Given the description of an element on the screen output the (x, y) to click on. 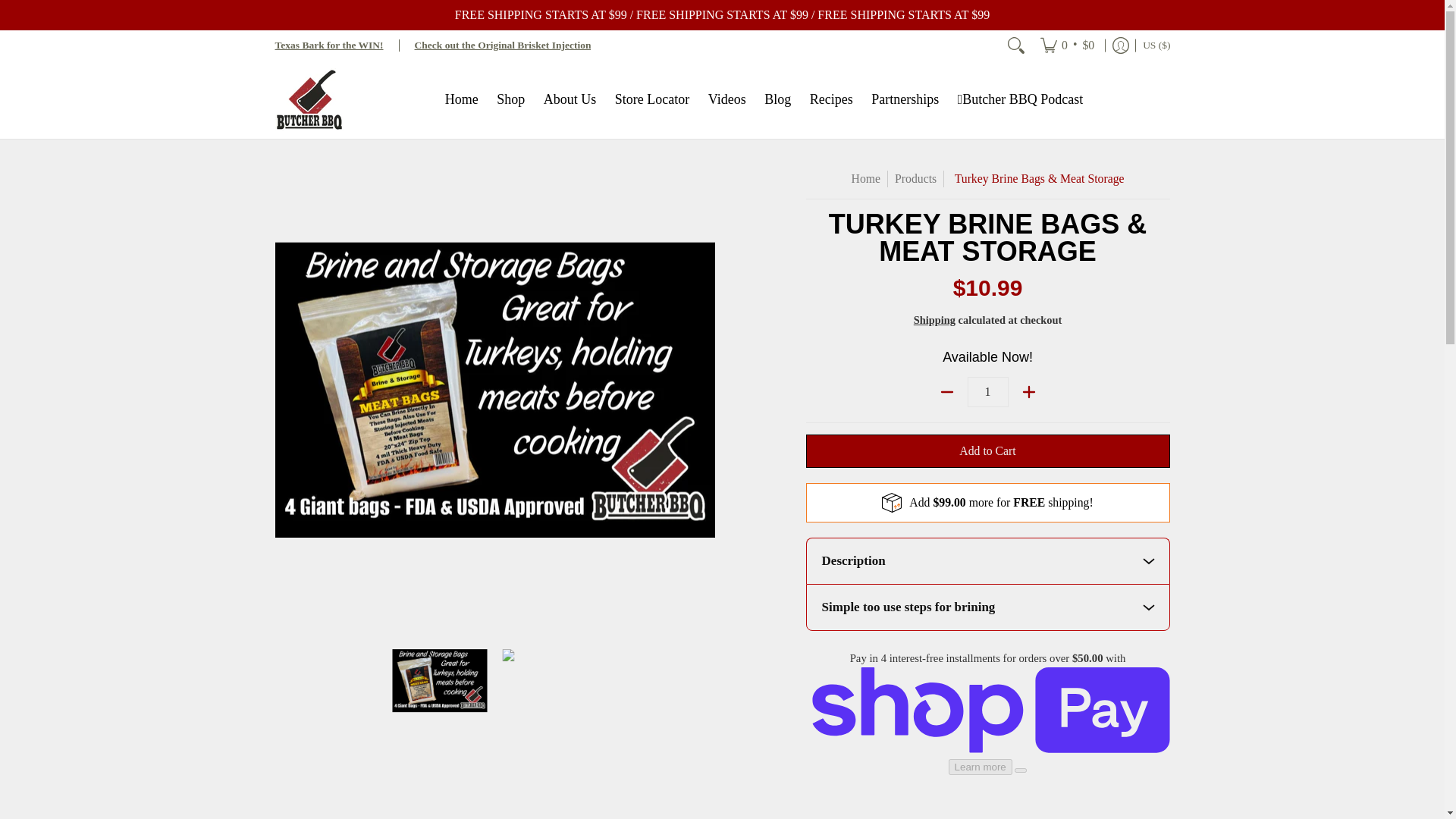
Videos (727, 99)
Home (462, 99)
Skip to Main Content (1, 8)
Butcher BBQ  (308, 99)
Original Brisket Injection Marinade (502, 44)
Search (1016, 45)
Store Locator (652, 99)
Partnerships (904, 99)
Texas Bark for the WIN! (328, 44)
1 (988, 391)
Log in (1120, 45)
Recipes (831, 99)
Texas Bark - SPG (328, 44)
Skip to Main Content (1, 8)
Cart (1067, 45)
